Given the description of an element on the screen output the (x, y) to click on. 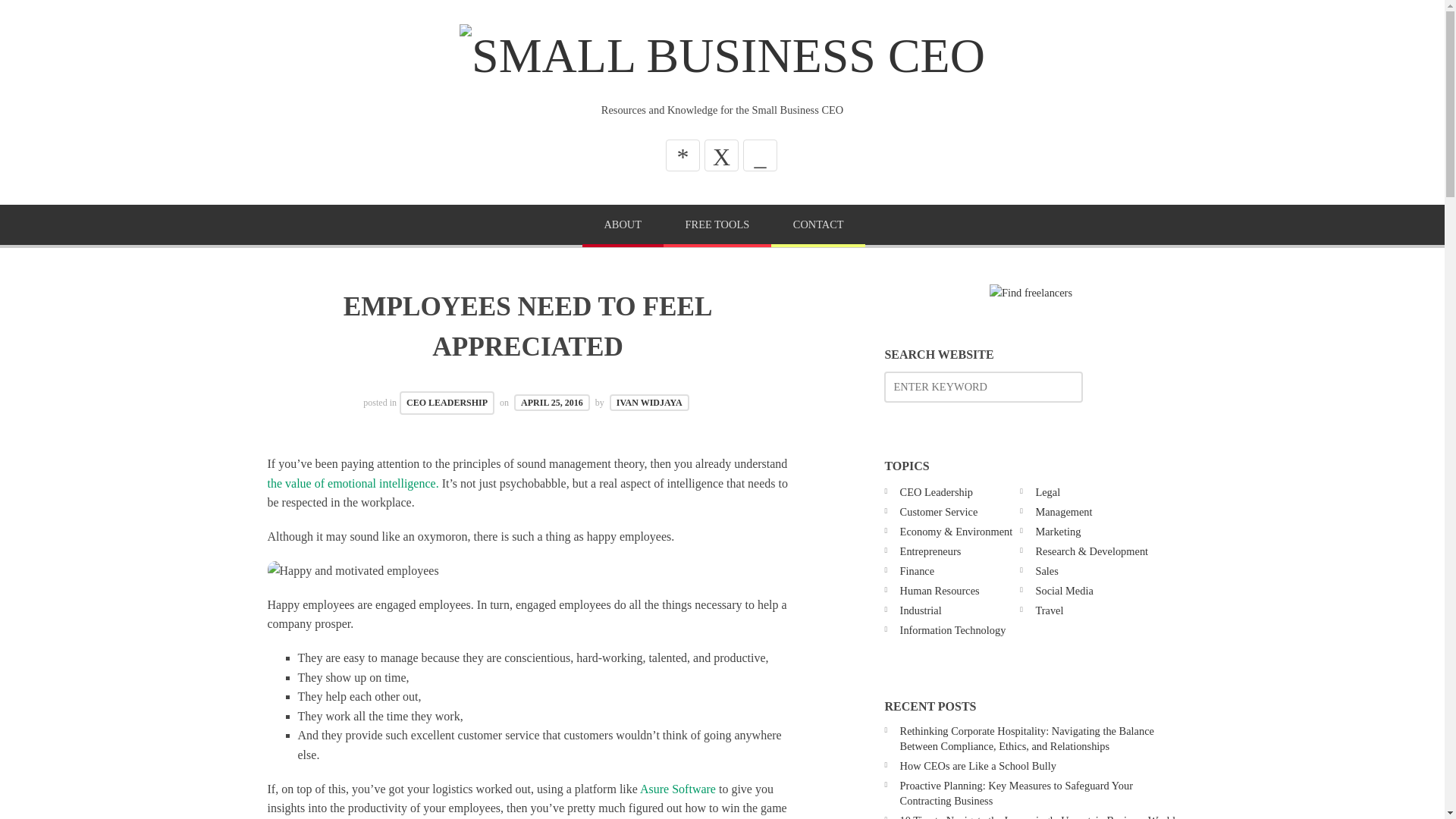
X (721, 155)
Asure Software (678, 788)
Customer Service (938, 511)
CEO Leadership (935, 491)
View all posts by Ivan Widjaya (649, 402)
CONTACT (817, 225)
5:37 am (551, 402)
APRIL 25, 2016 (551, 402)
CEO LEADERSHIP (446, 402)
Search (45, 16)
